Given the description of an element on the screen output the (x, y) to click on. 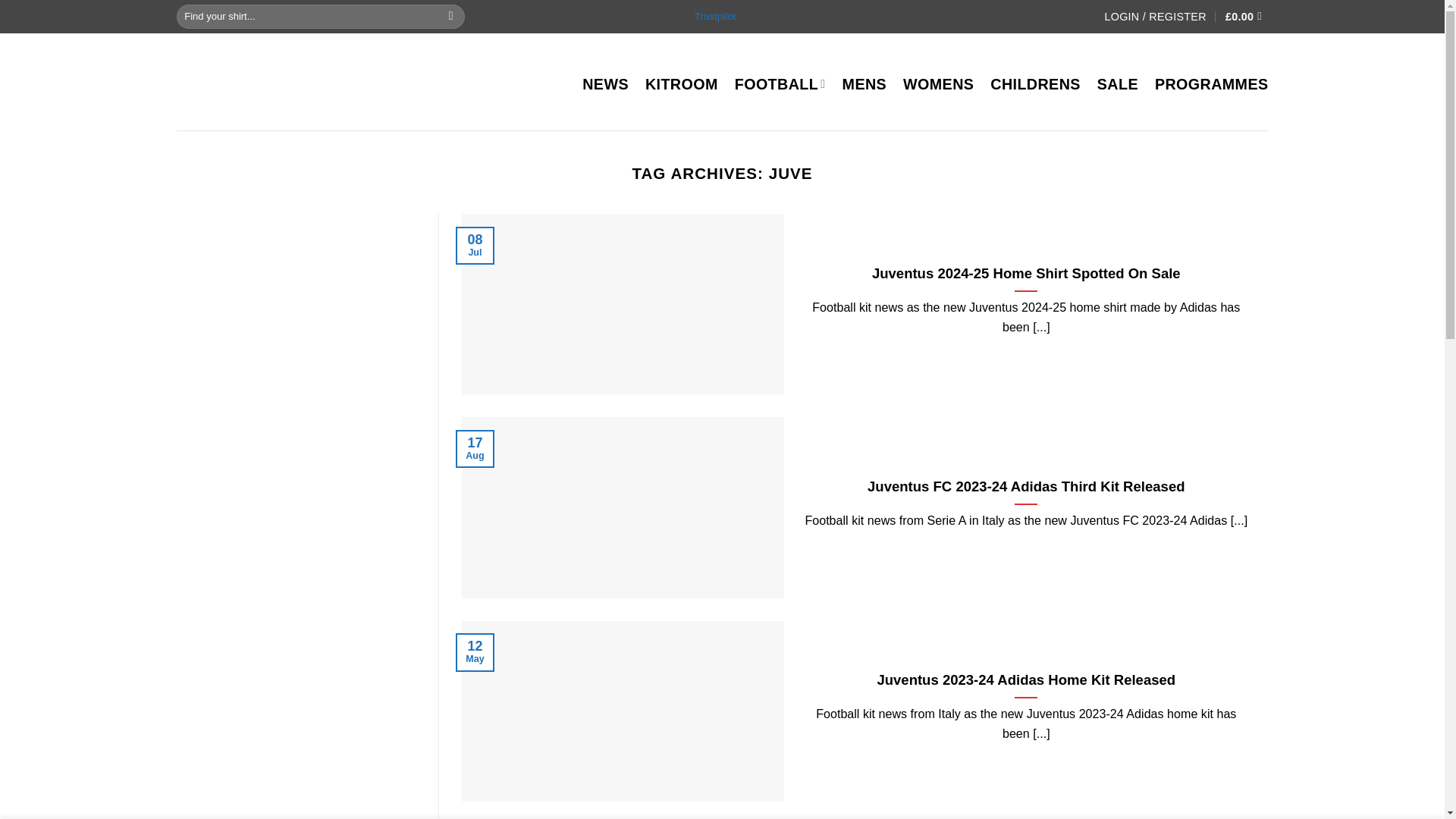
FOOTBALL (780, 83)
Trustpilot (715, 16)
Basket (1246, 16)
Search (451, 16)
